Given the description of an element on the screen output the (x, y) to click on. 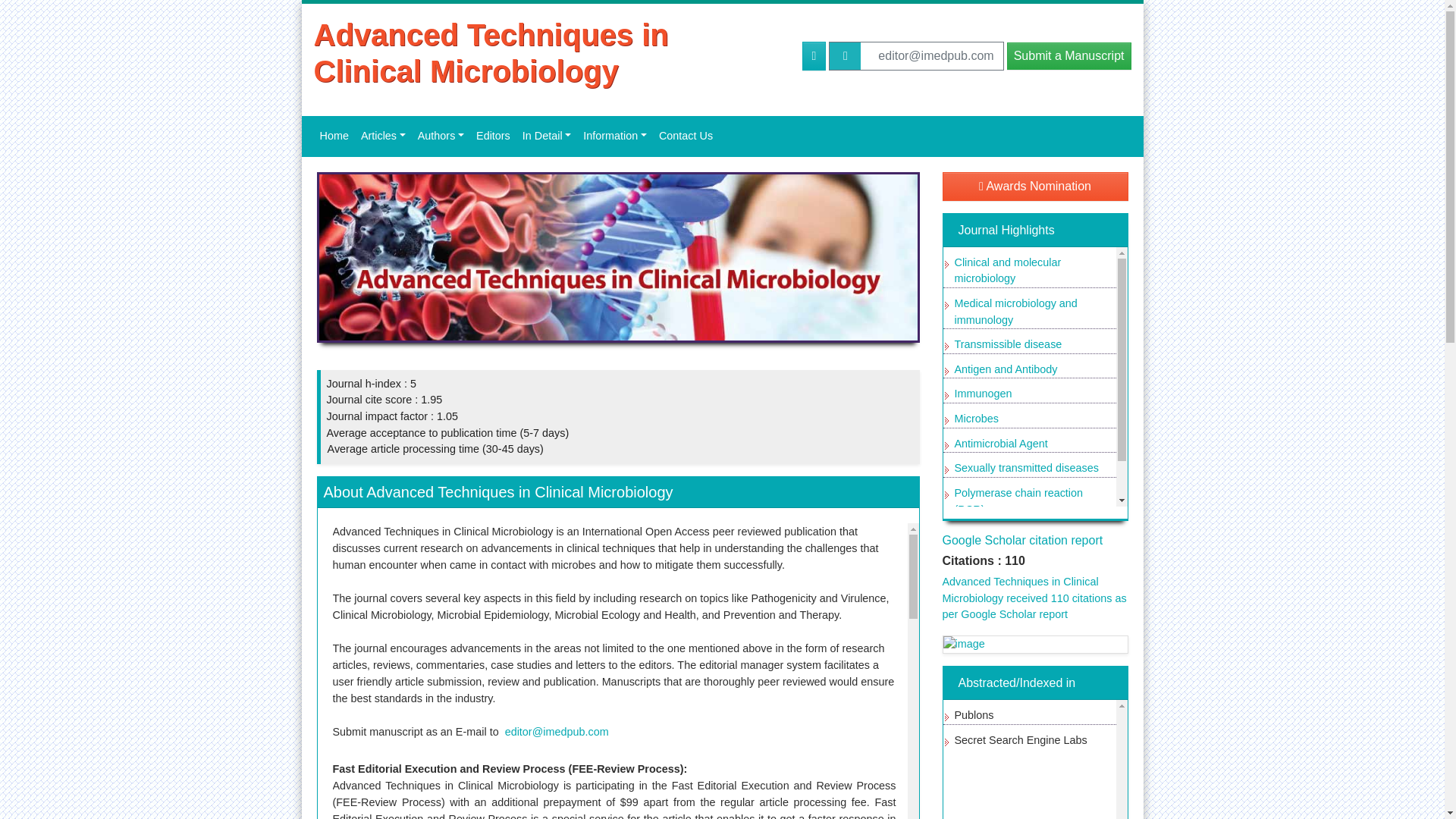
Editors (441, 136)
Submit a Manuscript (1069, 55)
Editors (493, 136)
Advanced Techniques in Clinical Microbiology (546, 52)
Information (614, 136)
Home (334, 136)
click here (1069, 55)
In Detail (546, 136)
Editors (493, 136)
Information (614, 136)
Contact Us (685, 136)
Home (334, 136)
Advanced Techniques in Clinical Microbiology (546, 52)
In Detail (546, 136)
